Given the description of an element on the screen output the (x, y) to click on. 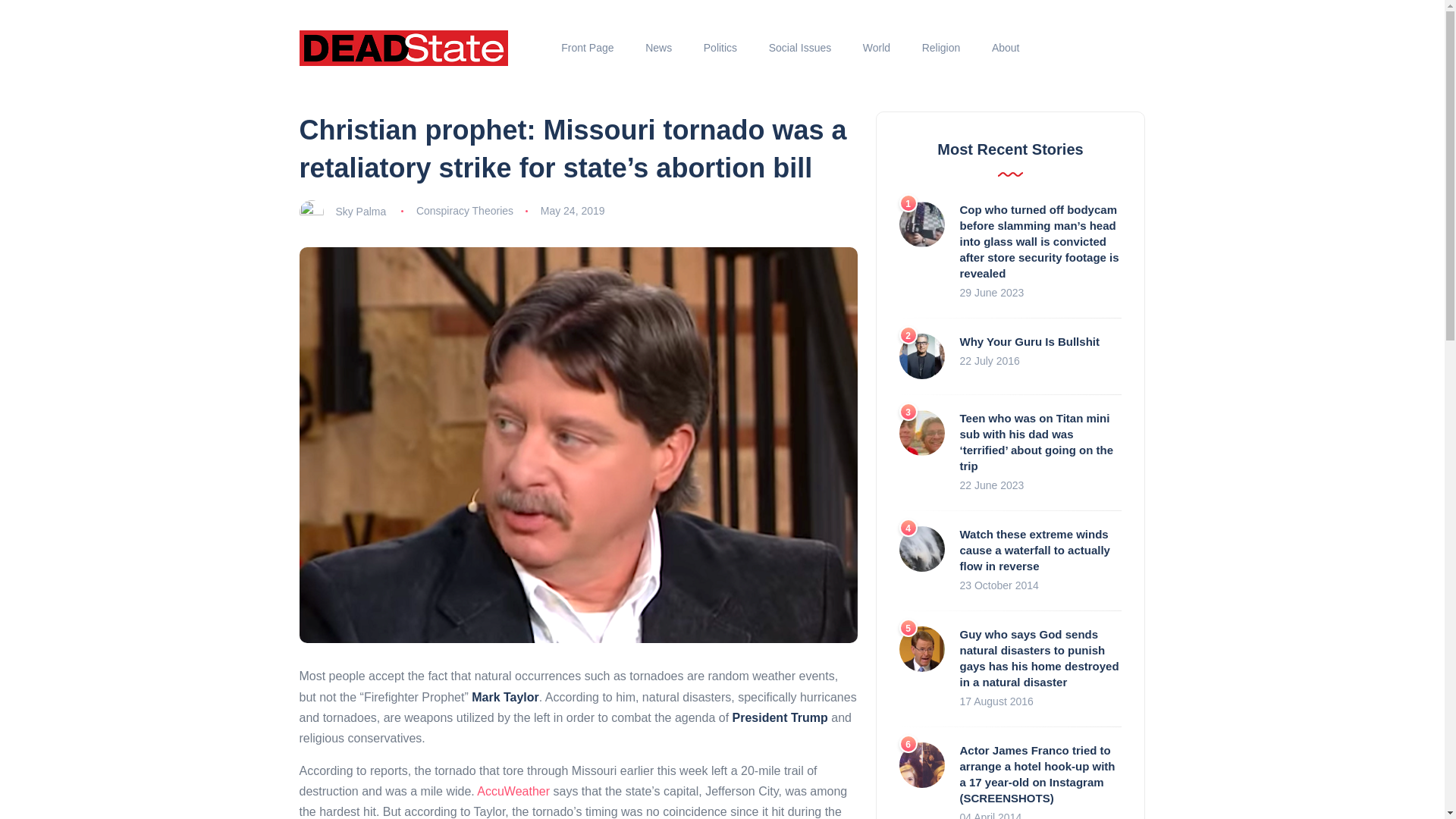
News (657, 47)
Sky Palma (359, 210)
AccuWeather (513, 790)
Conspiracy Theories (464, 210)
Politics (719, 47)
Religion (940, 47)
World (876, 47)
Social Issues (799, 47)
Front Page (588, 47)
About (1005, 47)
Posts by Sky Palma (359, 210)
